Given the description of an element on the screen output the (x, y) to click on. 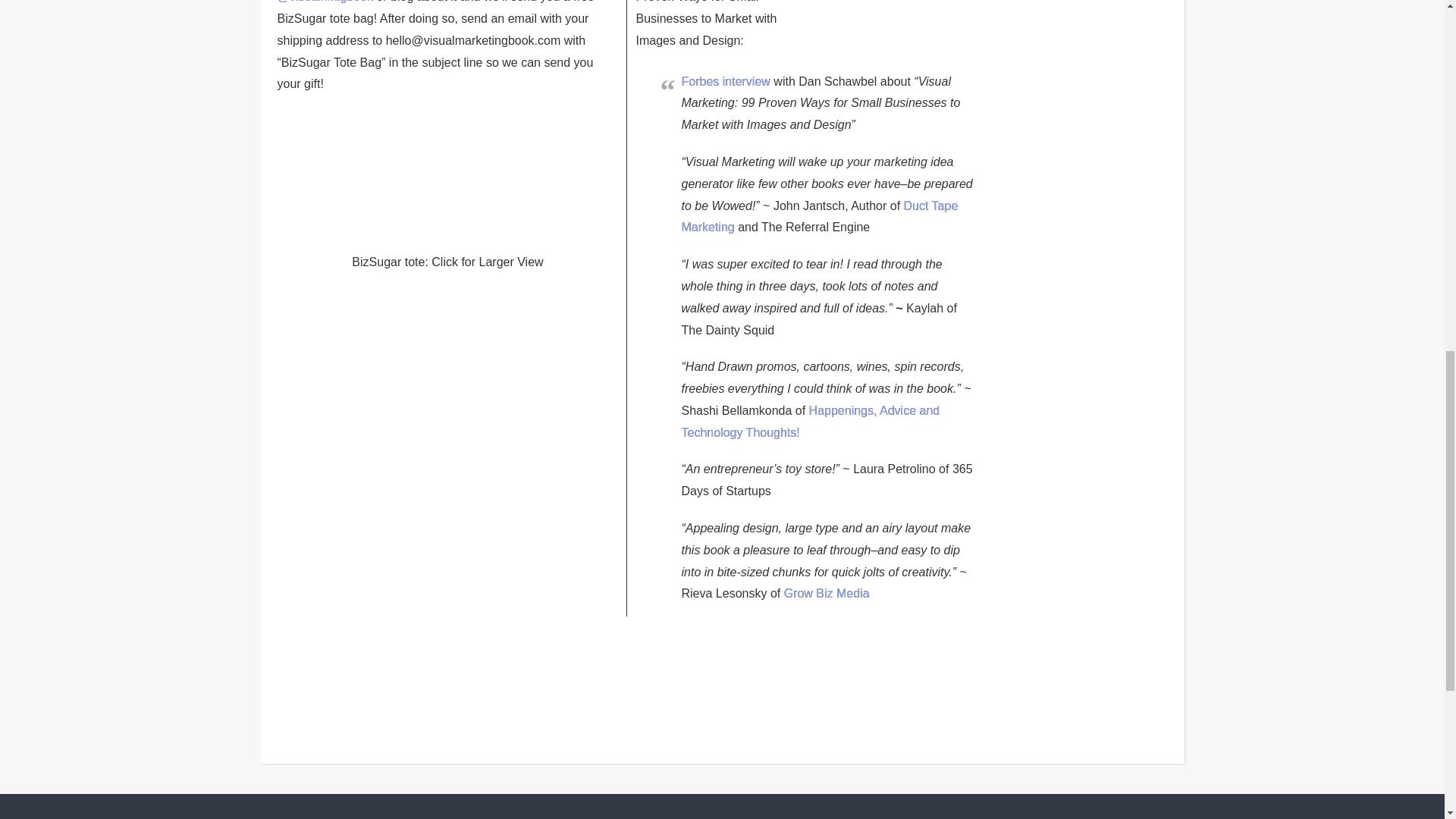
Dainty Squid Review (895, 28)
Visual Marketing Sighting! (355, 194)
Visual Marketing Sighting! (539, 194)
VM Chapter 1 (623, 680)
Tweet Your Photo and Follow Us on Twitter! (326, 1)
Visual Marketing on Shelves (470, 680)
VM book2 (874, 679)
